Given the description of an element on the screen output the (x, y) to click on. 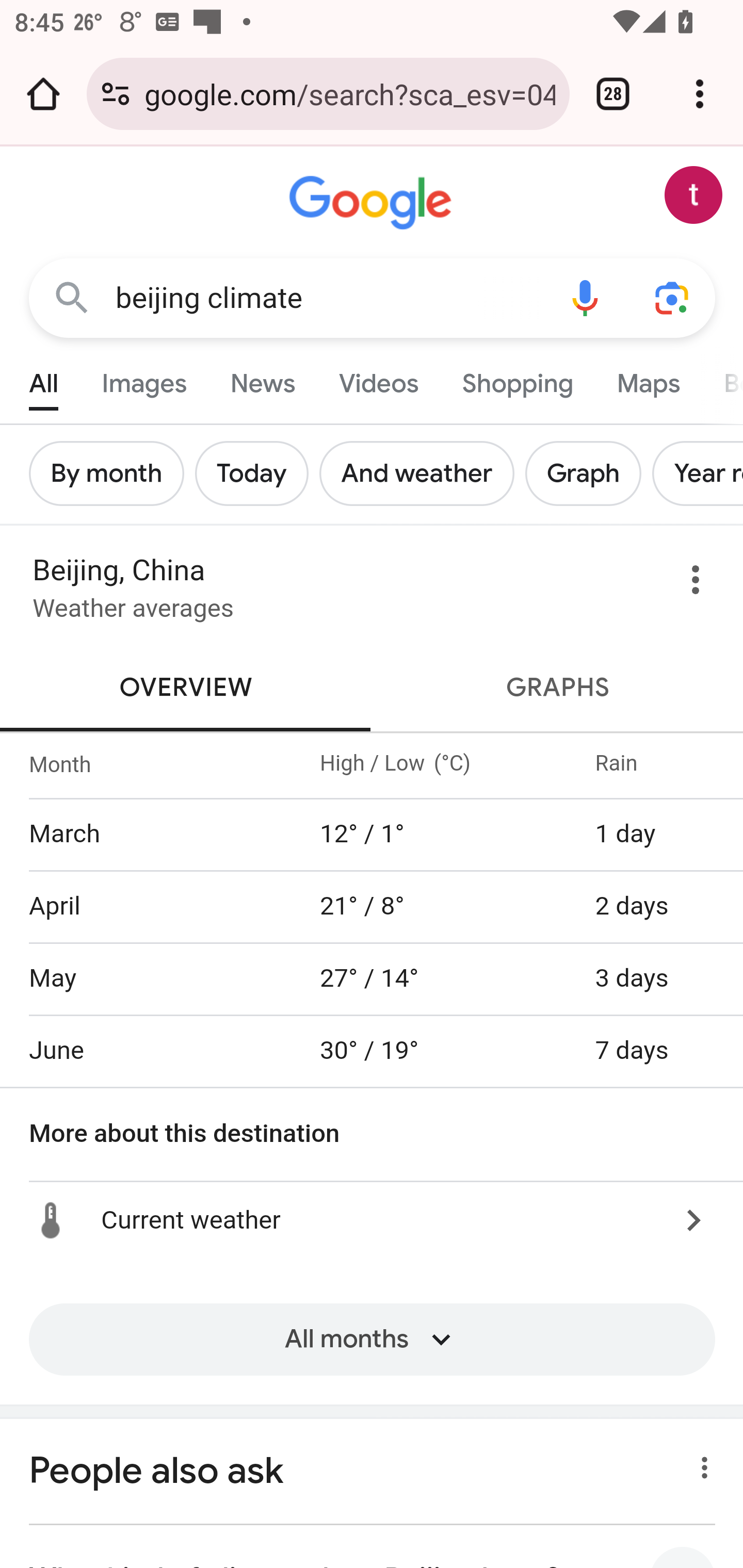
Open the home page (43, 93)
Connection is secure (115, 93)
Switch or close tabs (612, 93)
Customize and control Google Chrome (699, 93)
Google (372, 203)
Google Search (71, 296)
Search using your camera or photos (672, 296)
beijing climate (328, 297)
Images (144, 378)
News (262, 378)
Videos (378, 378)
Shopping (516, 378)
Maps (647, 378)
Add By month By month (112, 473)
Add Today Today (257, 473)
Add And weather And weather (421, 473)
Add Graph Graph (588, 473)
Menu (695, 583)
OVERVIEW (186, 687)
GRAPHS (557, 687)
All months (371, 1353)
About this result (698, 1461)
